Given the description of an element on the screen output the (x, y) to click on. 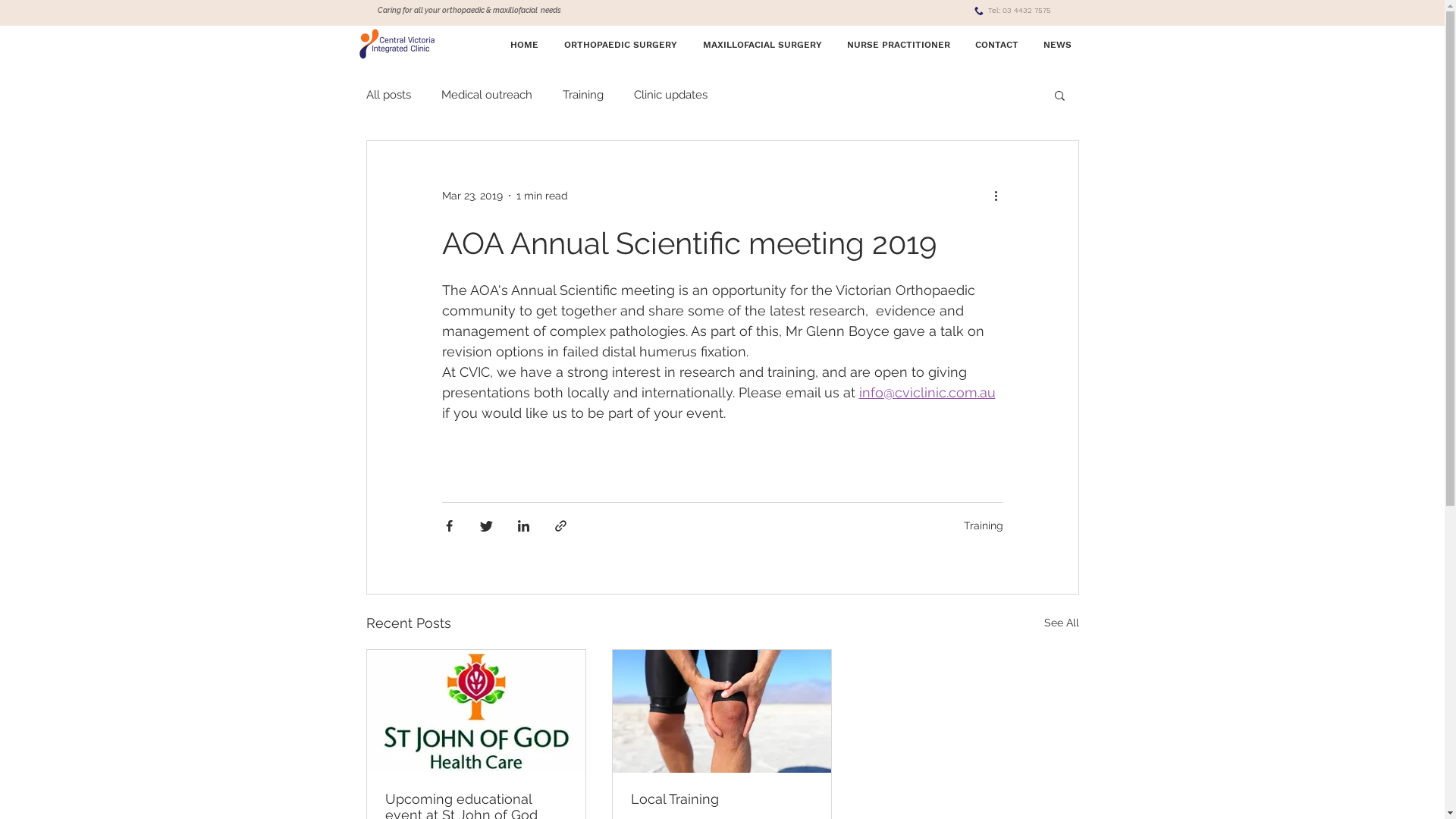
NEWS Element type: text (1057, 45)
HOME Element type: text (524, 45)
Medical outreach Element type: text (486, 94)
See All Element type: text (1060, 622)
CONTACT Element type: text (997, 45)
All posts Element type: text (387, 94)
Training Element type: text (982, 524)
Clinic updates Element type: text (670, 94)
Training Element type: text (582, 94)
MAXILLOFACIAL SURGERY Element type: text (762, 45)
info@cviclinic.com.au Element type: text (926, 392)
ORTHOPAEDIC SURGERY Element type: text (619, 45)
NURSE PRACTITIONER Element type: text (898, 45)
Local Training Element type: text (721, 798)
